Given the description of an element on the screen output the (x, y) to click on. 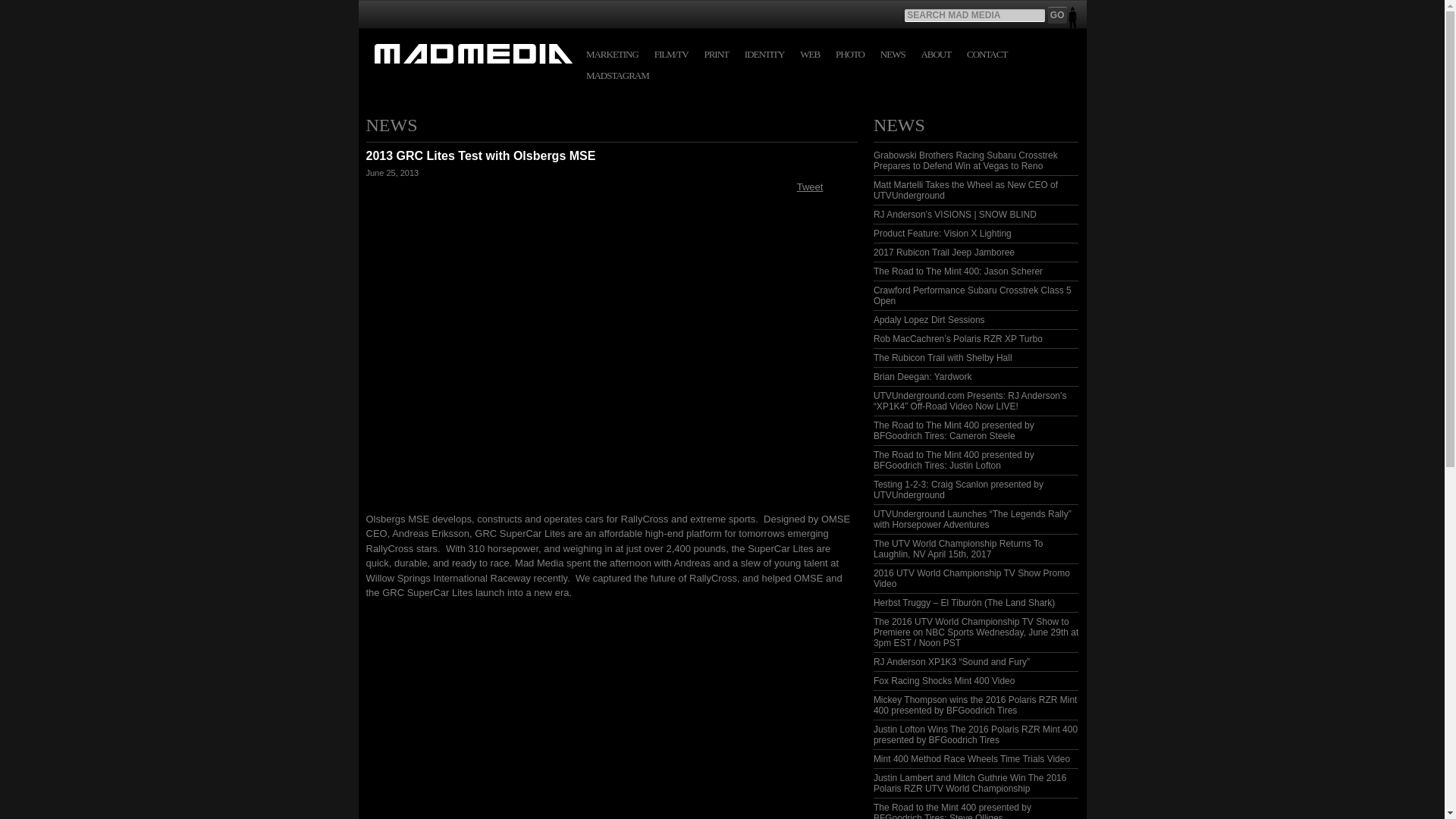
CONTACT (986, 54)
 GO  (1057, 14)
Matt Martelli Takes the Wheel as New CEO of UTVUnderground (965, 189)
SEARCH MAD MEDIA (974, 15)
Fox Racing Shocks Mint 400 Video (943, 680)
The Road to The Mint 400: Jason Scherer (957, 271)
MADSTAGRAM (617, 75)
Crawford Performance Subaru Crosstrek Class 5 Open (972, 295)
Tweet (810, 186)
Matt Martelli Takes the Wheel as New CEO of UTVUnderground (965, 189)
 GO  (1057, 14)
2016 UTV World Championship TV Show Promo Video (971, 578)
PHOTO (850, 54)
